Given the description of an element on the screen output the (x, y) to click on. 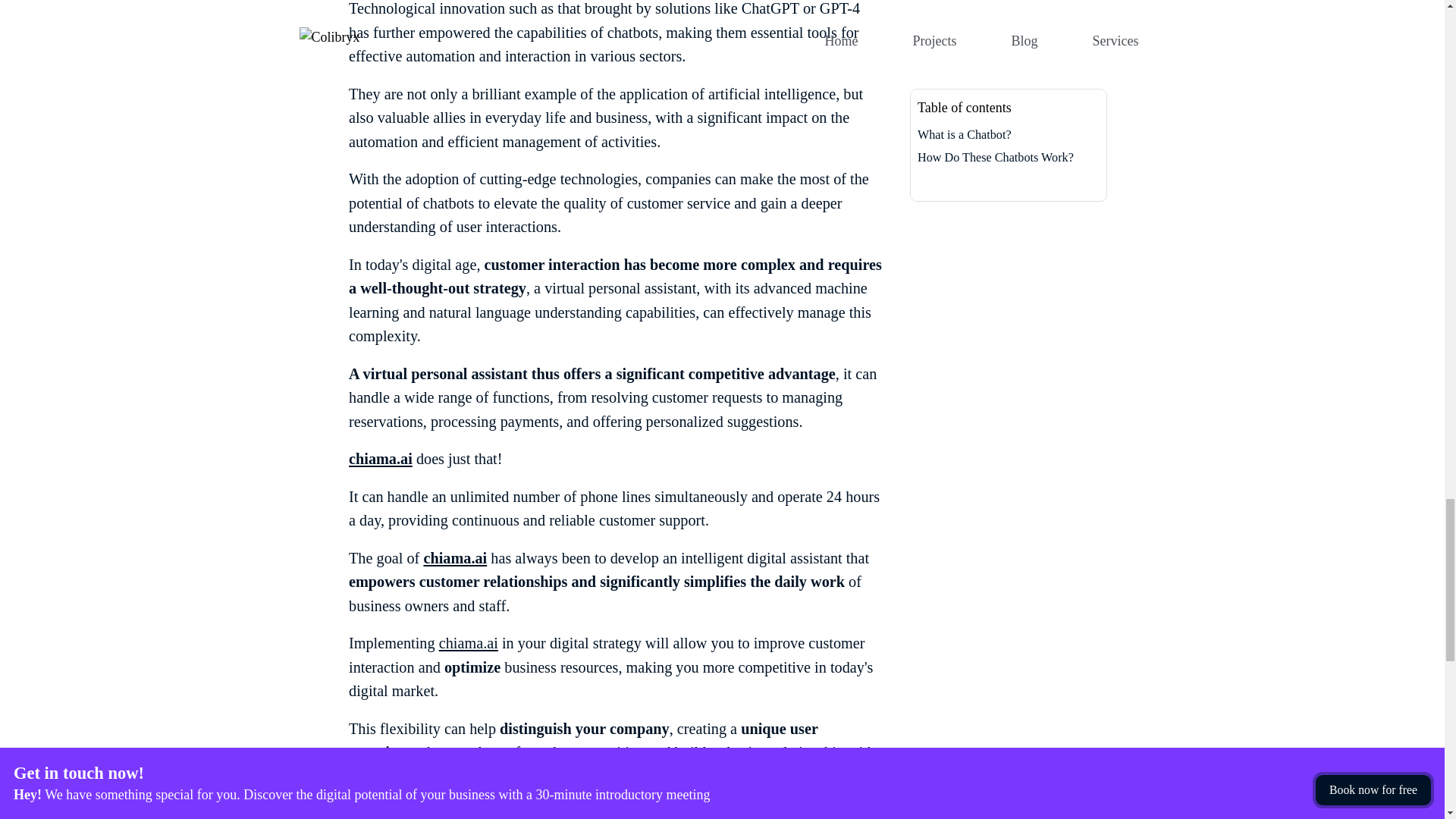
chiama.ai (380, 458)
chiama.ai (454, 557)
chiama.ai (380, 458)
chiama.ai (454, 557)
chiama.ai (468, 642)
